Given the description of an element on the screen output the (x, y) to click on. 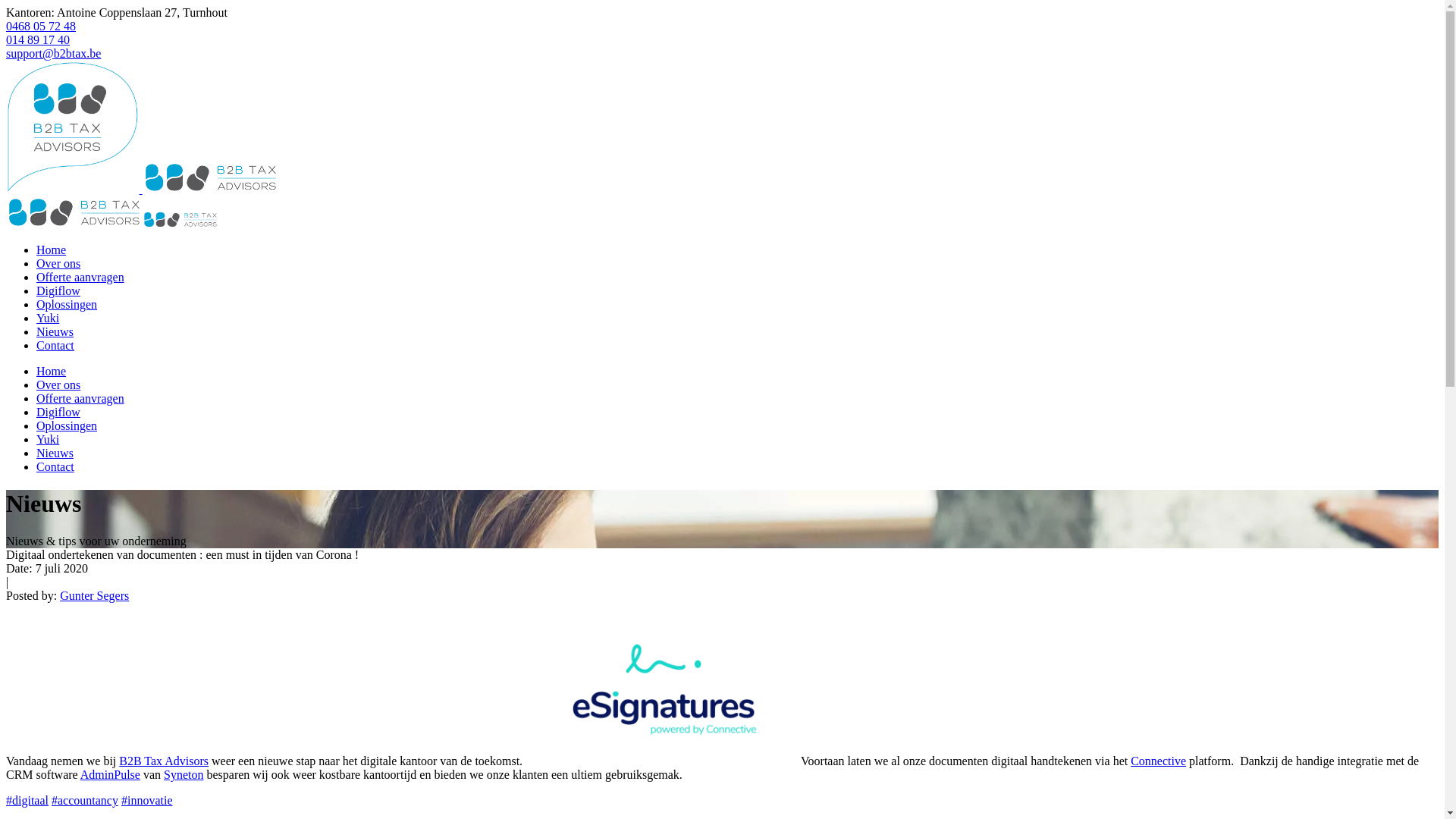
0468 05 72 48 Element type: text (40, 25)
#innovatie Element type: text (146, 799)
Digiflow Element type: text (58, 411)
B2B Tax Advisors Element type: hover (112, 223)
Home Element type: text (50, 370)
Home Element type: text (50, 249)
Offerte aanvragen Element type: text (80, 276)
Nieuws Element type: text (54, 331)
014 89 17 40 Element type: text (37, 39)
Oplossingen Element type: text (66, 425)
Oplossingen Element type: text (66, 304)
Connective Element type: text (1158, 760)
Nieuws Element type: text (54, 452)
Digiflow Element type: text (58, 290)
AdminPulse Element type: text (110, 774)
Yuki Element type: text (47, 439)
Yuki Element type: text (47, 317)
support@b2btax.be Element type: text (53, 53)
Offerte aanvragen Element type: text (80, 398)
B2B Tax Advisors Element type: text (163, 760)
Gunter Segers Element type: text (93, 595)
Over ons Element type: text (58, 263)
Contact Element type: text (55, 344)
Contact Element type: text (55, 466)
Syneton Element type: text (183, 774)
Over ons Element type: text (58, 384)
#digitaal Element type: text (27, 799)
#accountancy Element type: text (84, 799)
